Given the description of an element on the screen output the (x, y) to click on. 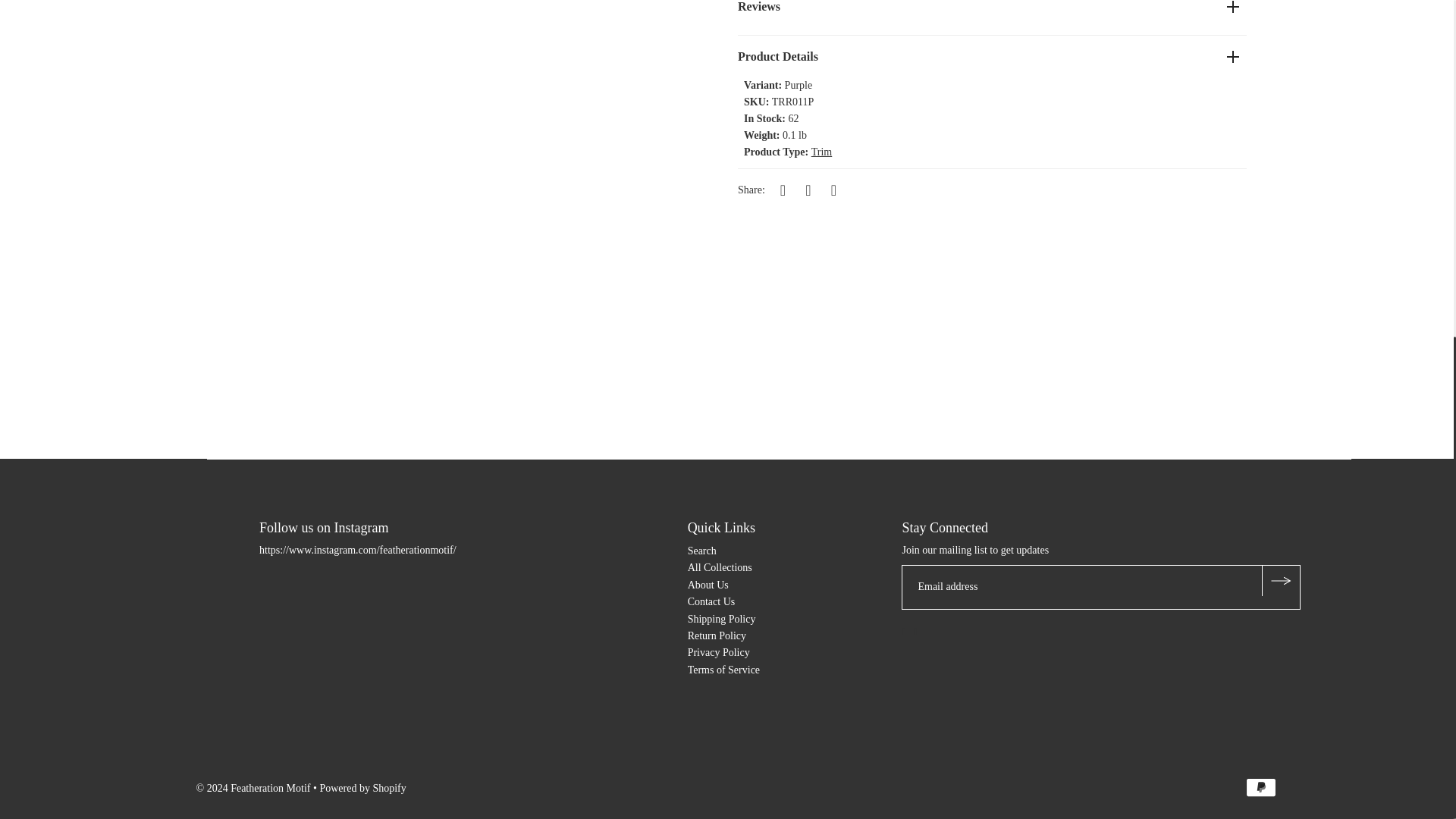
Trim (821, 152)
Share on Pinterest (833, 189)
PayPal (1261, 787)
Share on Facebook (782, 189)
Share on Twitter (807, 189)
